Given the description of an element on the screen output the (x, y) to click on. 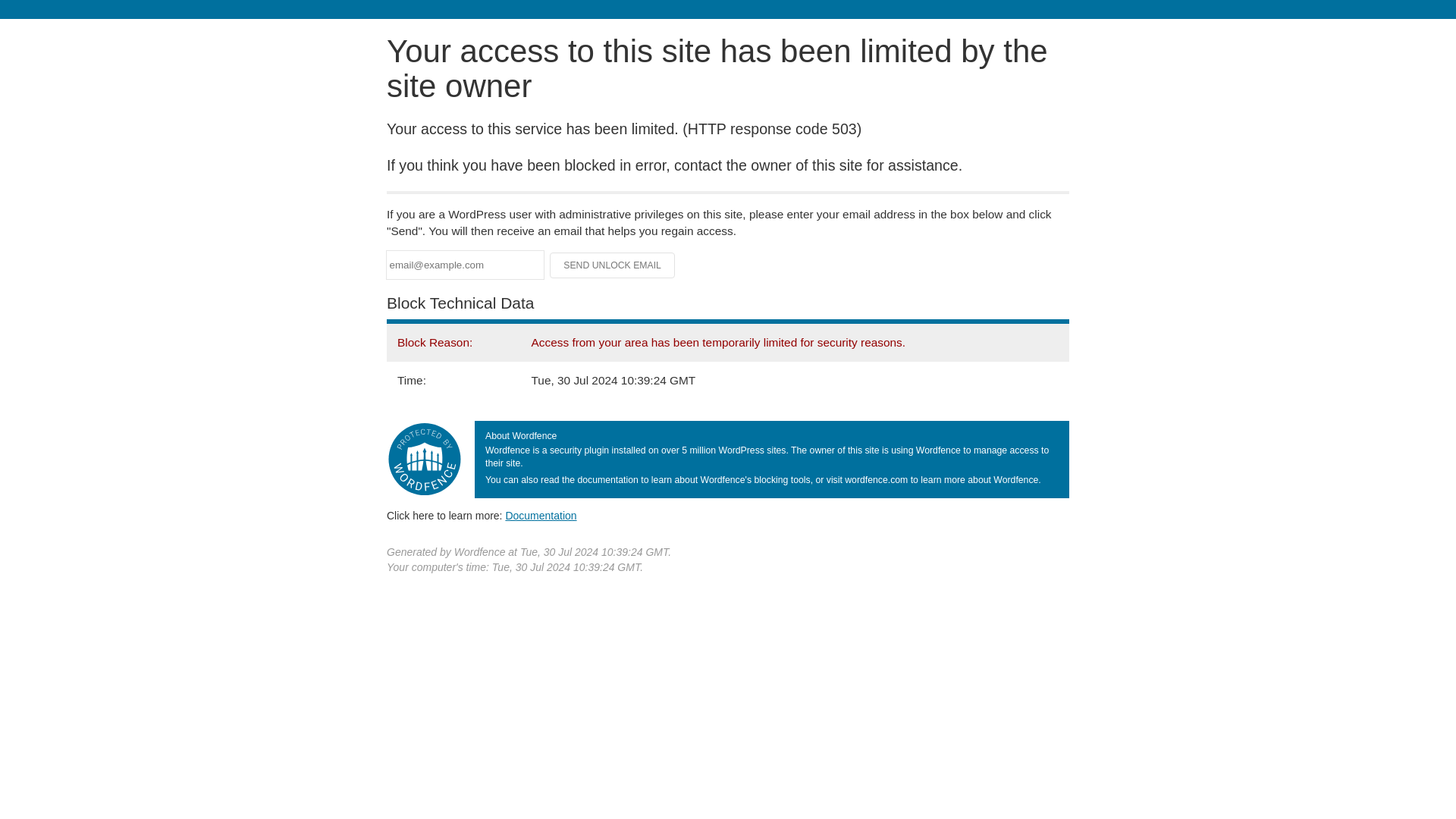
Send Unlock Email (612, 265)
Documentation (540, 515)
Send Unlock Email (612, 265)
